Given the description of an element on the screen output the (x, y) to click on. 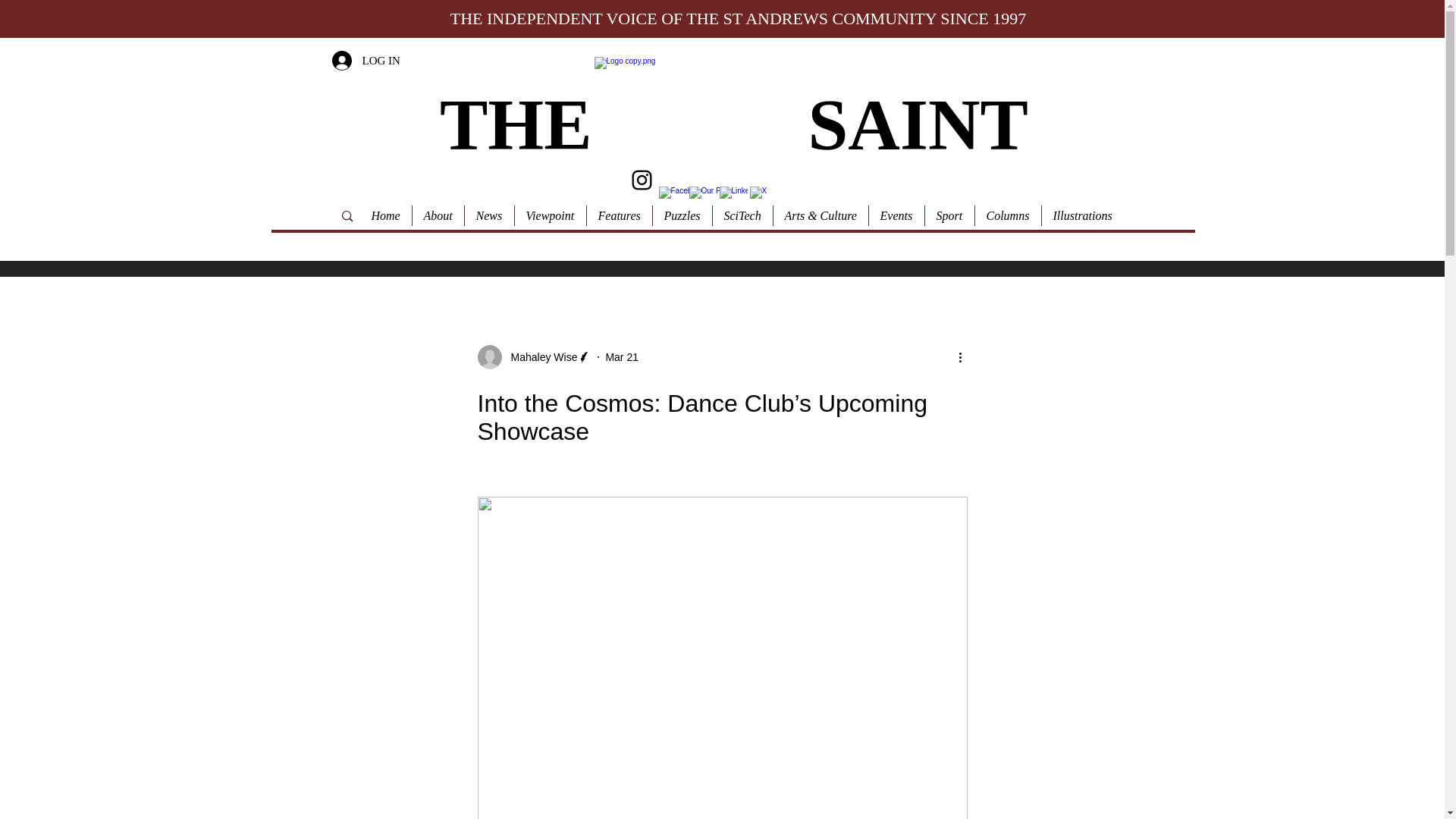
SAINT (917, 125)
Home (384, 215)
Mar 21 (622, 356)
Mahaley Wise (534, 356)
SciTech (741, 215)
Sport (948, 215)
THE (515, 125)
LOG IN (365, 60)
Puzzles (681, 215)
Events (895, 215)
Illustrations (1081, 215)
Mahaley Wise (540, 356)
News (488, 215)
THE INDEPENDENT VOICE OF THE ST ANDREWS COMMUNITY SINCE 1997 (737, 18)
Features (617, 215)
